Given the description of an element on the screen output the (x, y) to click on. 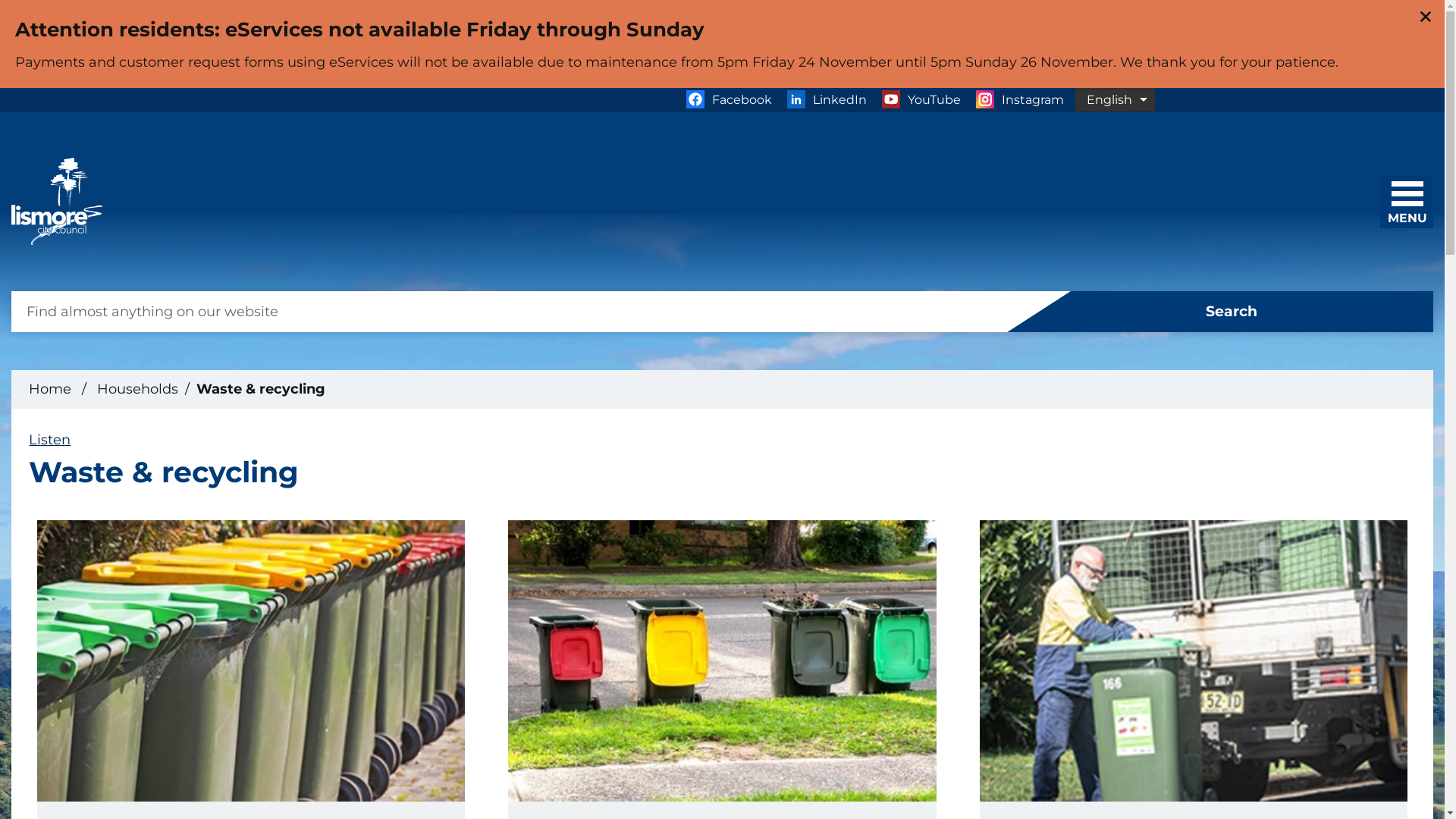
Home Element type: text (49, 388)
MENU Element type: text (1410, 196)
Listen Element type: text (49, 439)
Close this announcement Element type: text (1425, 16)
LinkedIn Element type: text (826, 99)
Your current preferred language is
English Element type: text (1114, 99)
Home - Lismore City Council - Logo Element type: text (56, 201)
Households Element type: text (137, 388)
Search Element type: text (1220, 311)
Instagram Element type: text (1019, 99)
Facebook Element type: text (728, 99)
YouTube Element type: text (920, 99)
